Given the description of an element on the screen output the (x, y) to click on. 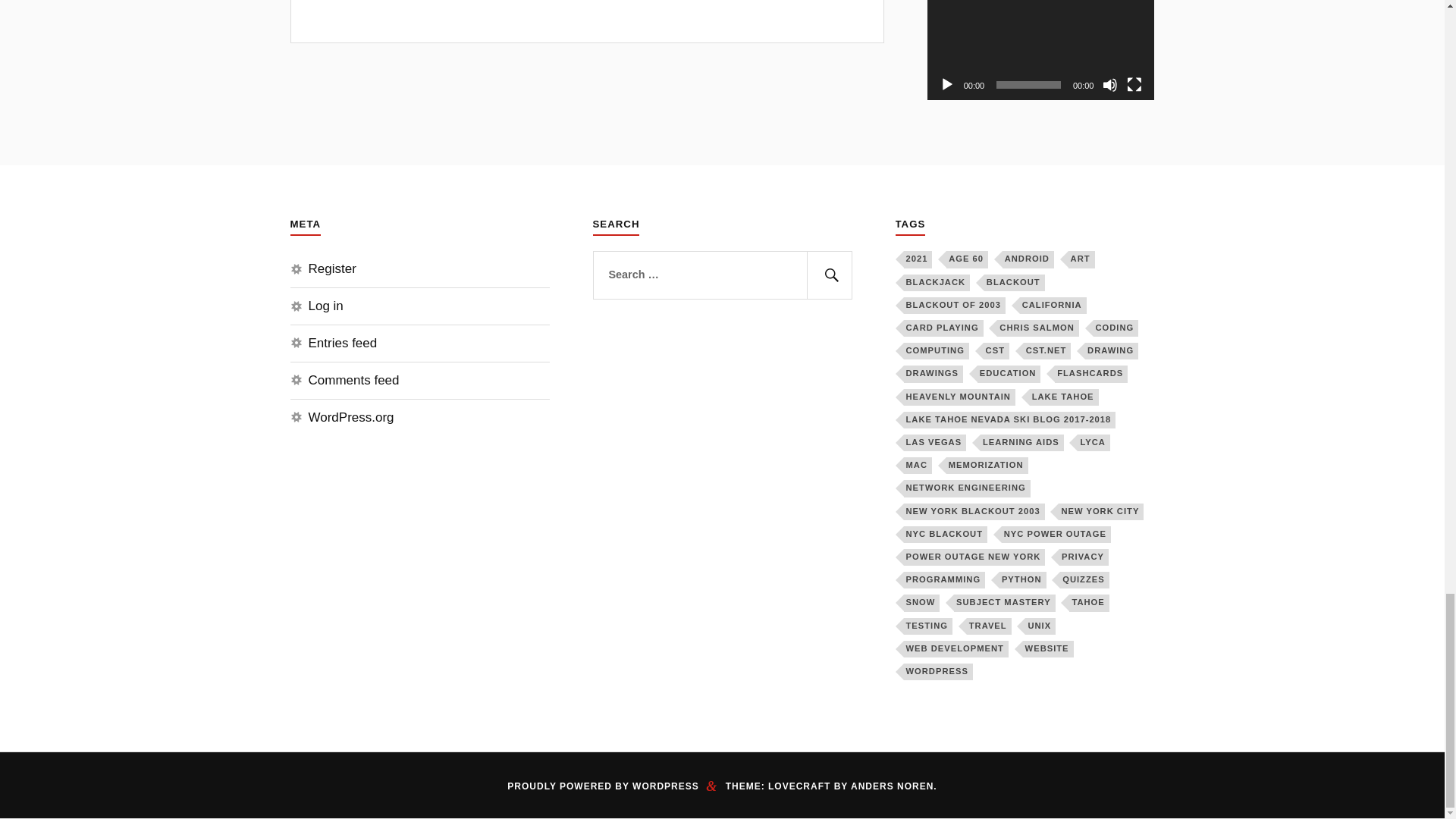
Mute (1110, 84)
Fullscreen (1133, 84)
Play (947, 84)
